Given the description of an element on the screen output the (x, y) to click on. 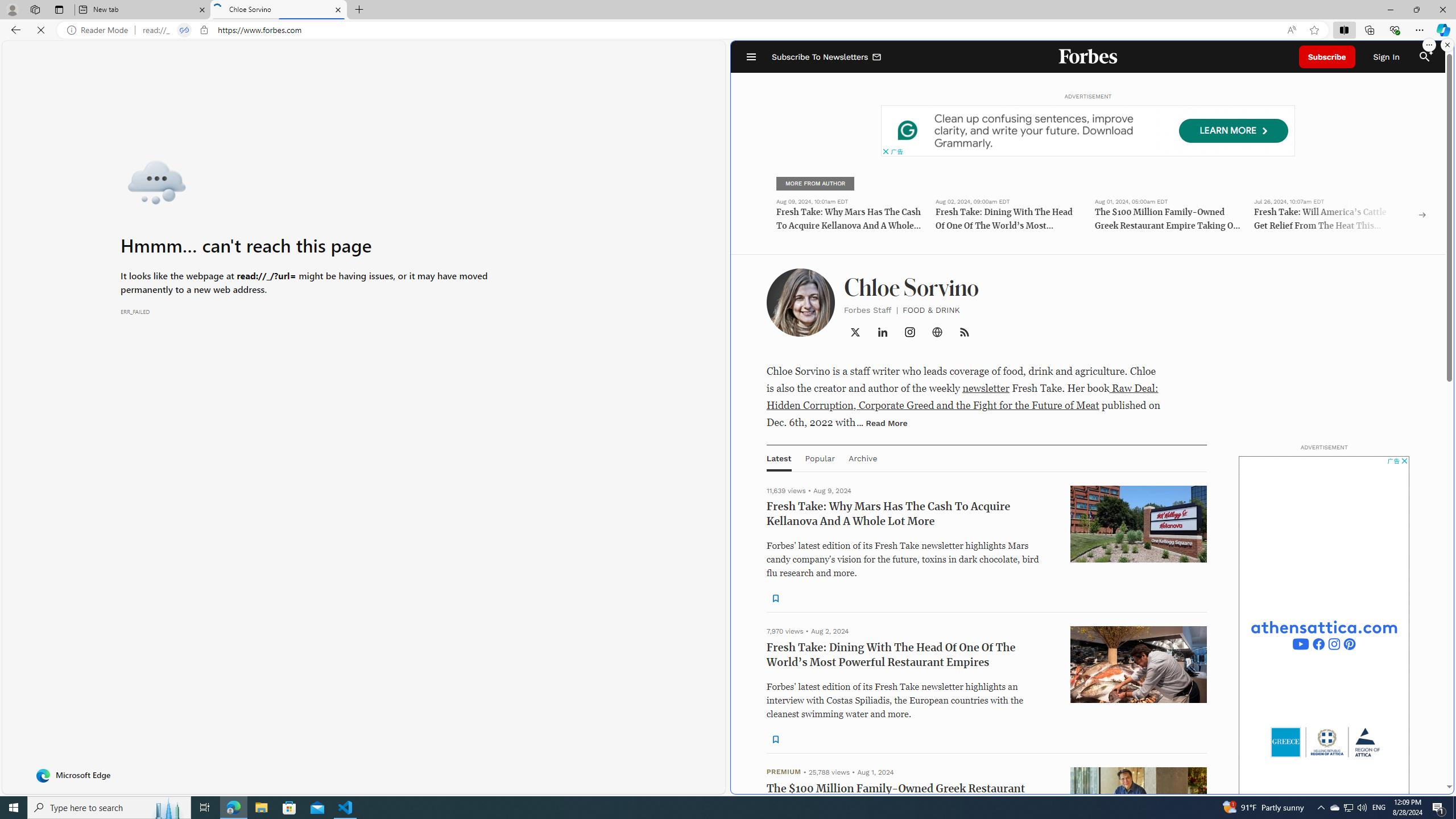
Tabs in split screen (184, 29)
Reader Mode (100, 29)
More options. (1428, 45)
Chloe Sorvino (277, 9)
Close split screen. (1447, 45)
